Given the description of an element on the screen output the (x, y) to click on. 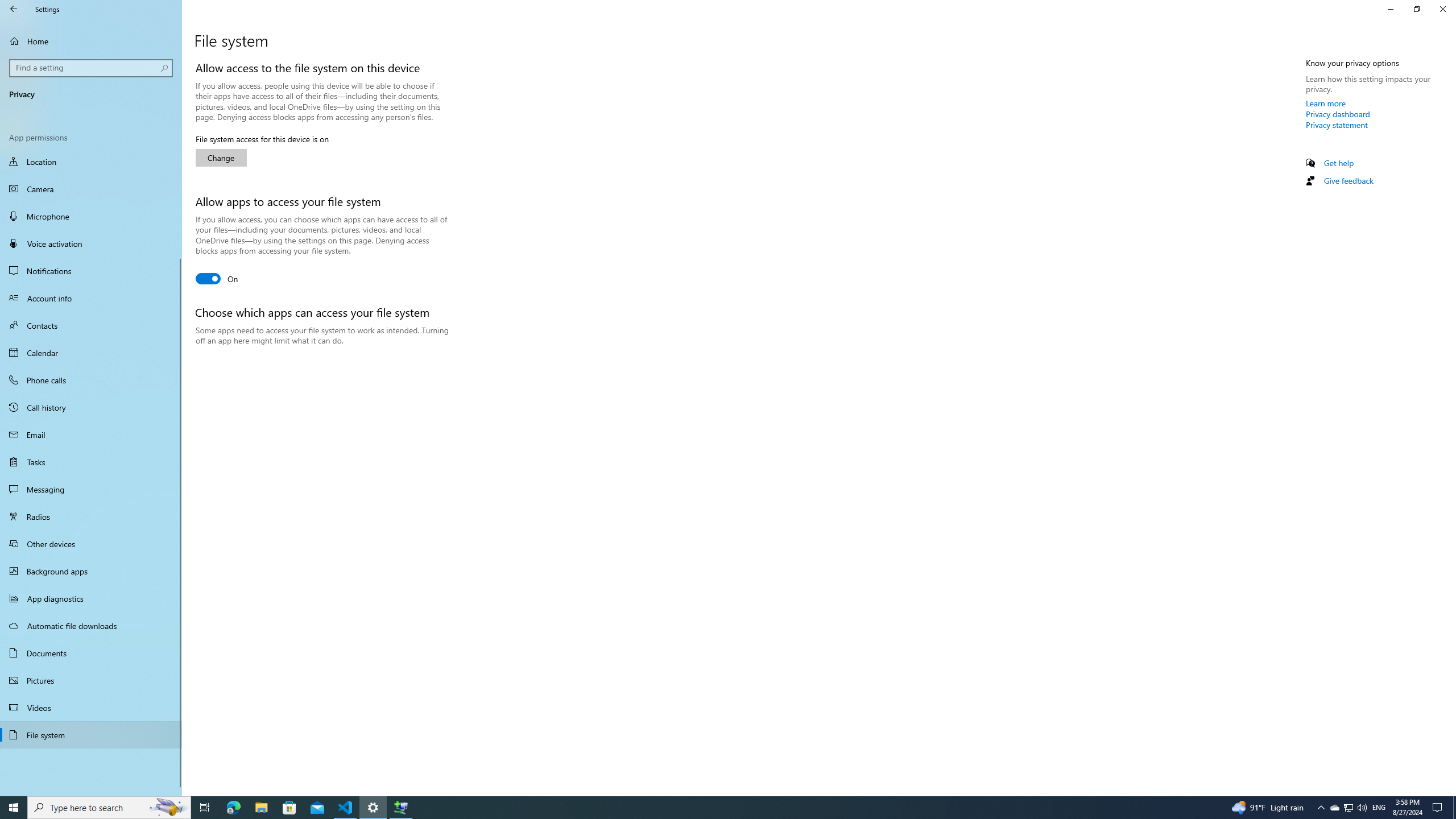
Learn more (1326, 102)
Extensible Wizards Host Process - 1 running window (400, 807)
Phone calls (91, 379)
Account info (91, 298)
Running applications (706, 807)
Calendar (91, 352)
Search box, Find a setting (91, 67)
Get help (1338, 162)
